Given the description of an element on the screen output the (x, y) to click on. 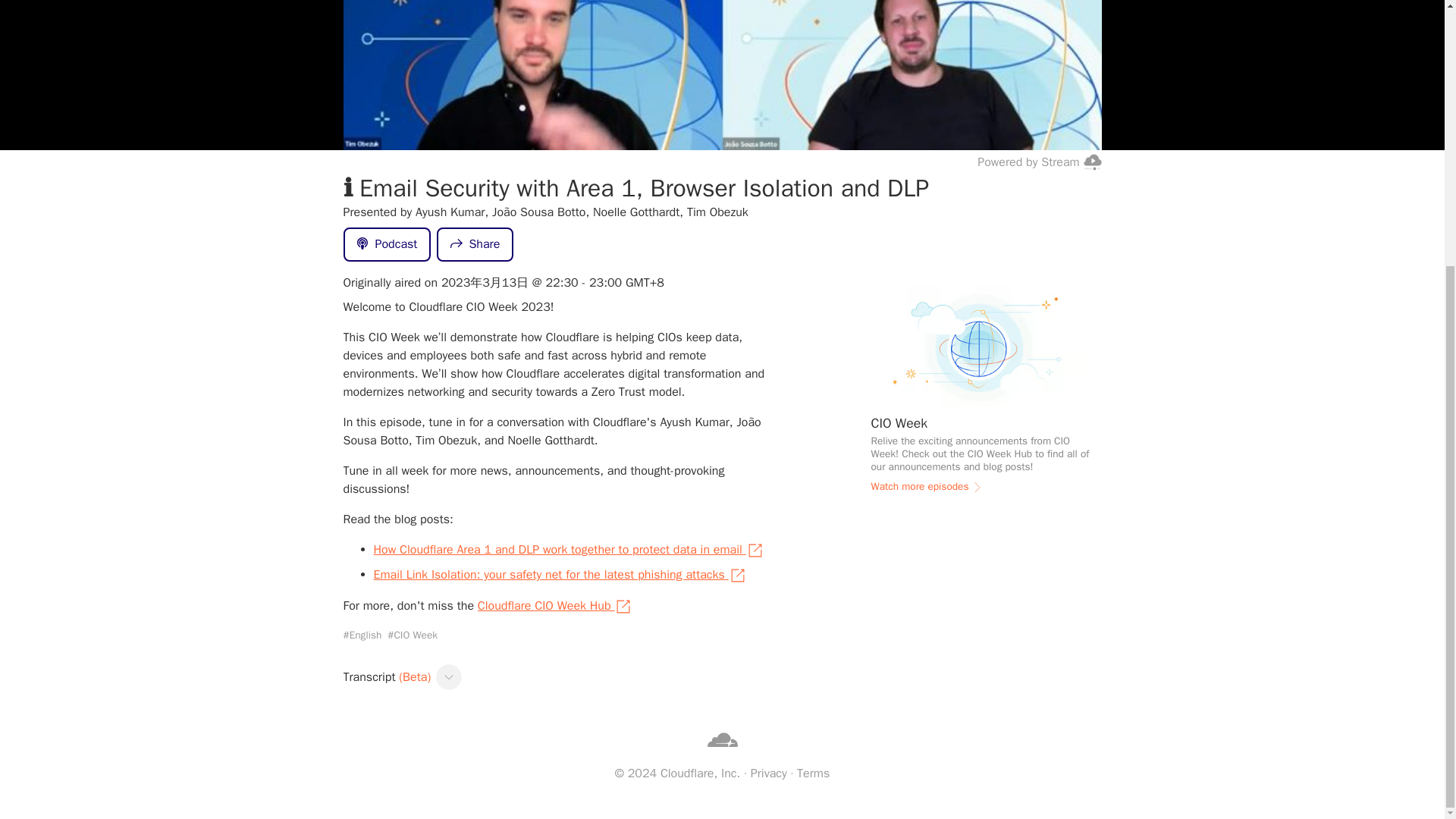
Cloudflare CIO Week Hub (555, 605)
Podcast (386, 244)
Share (474, 244)
Privacy (769, 773)
Powered by Stream (1038, 160)
Terms (812, 773)
